Given the description of an element on the screen output the (x, y) to click on. 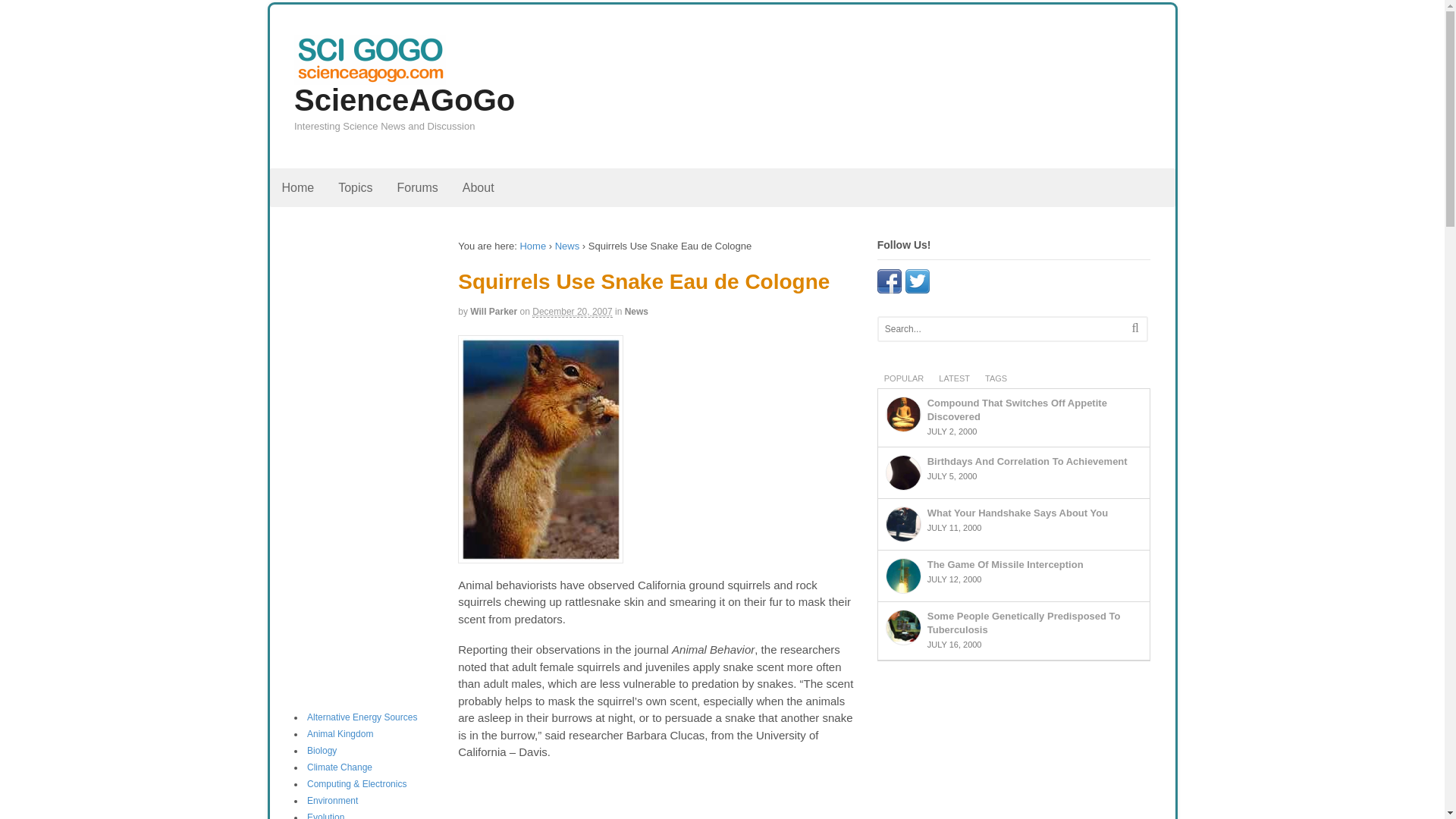
Home (297, 187)
Forums (417, 187)
ScienceAGoGo (532, 245)
Topics (355, 187)
Posts by Will Parker (493, 311)
Search... (998, 328)
ScienceAGoGo (404, 100)
View all items in News (635, 311)
About (477, 187)
View News (566, 245)
